Given the description of an element on the screen output the (x, y) to click on. 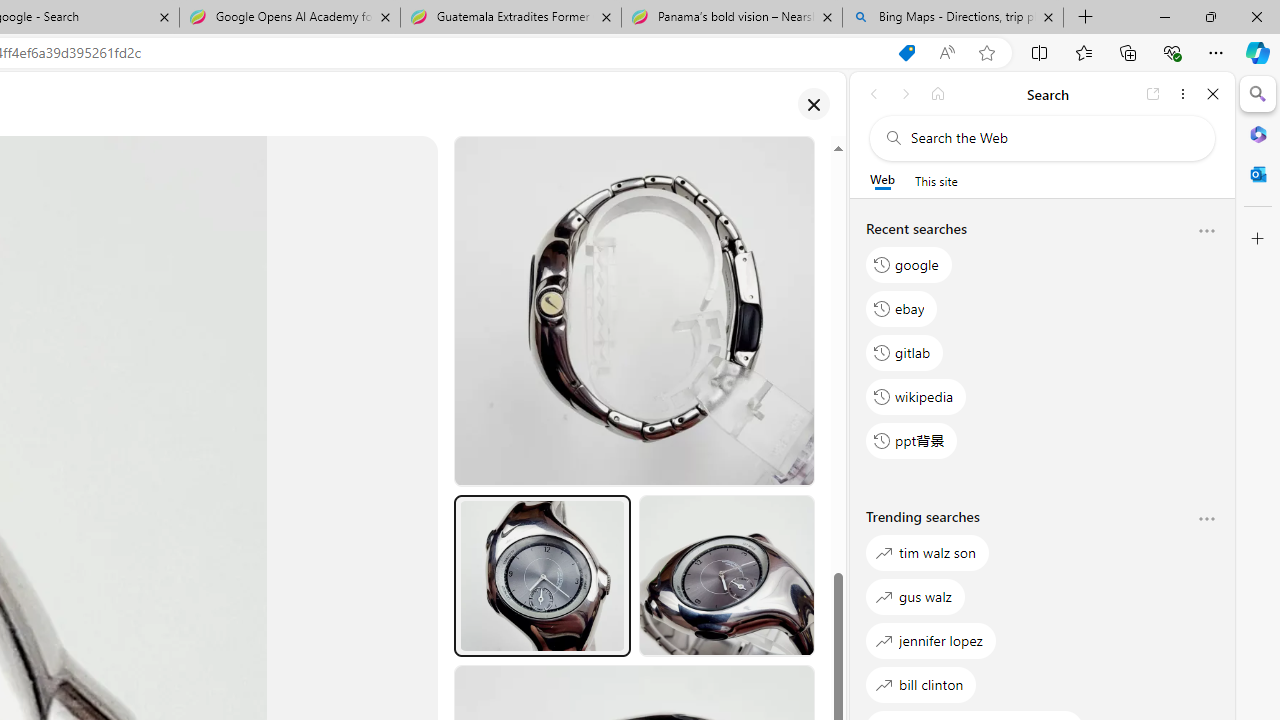
ebay (902, 308)
gitlab (905, 352)
